Given the description of an element on the screen output the (x, y) to click on. 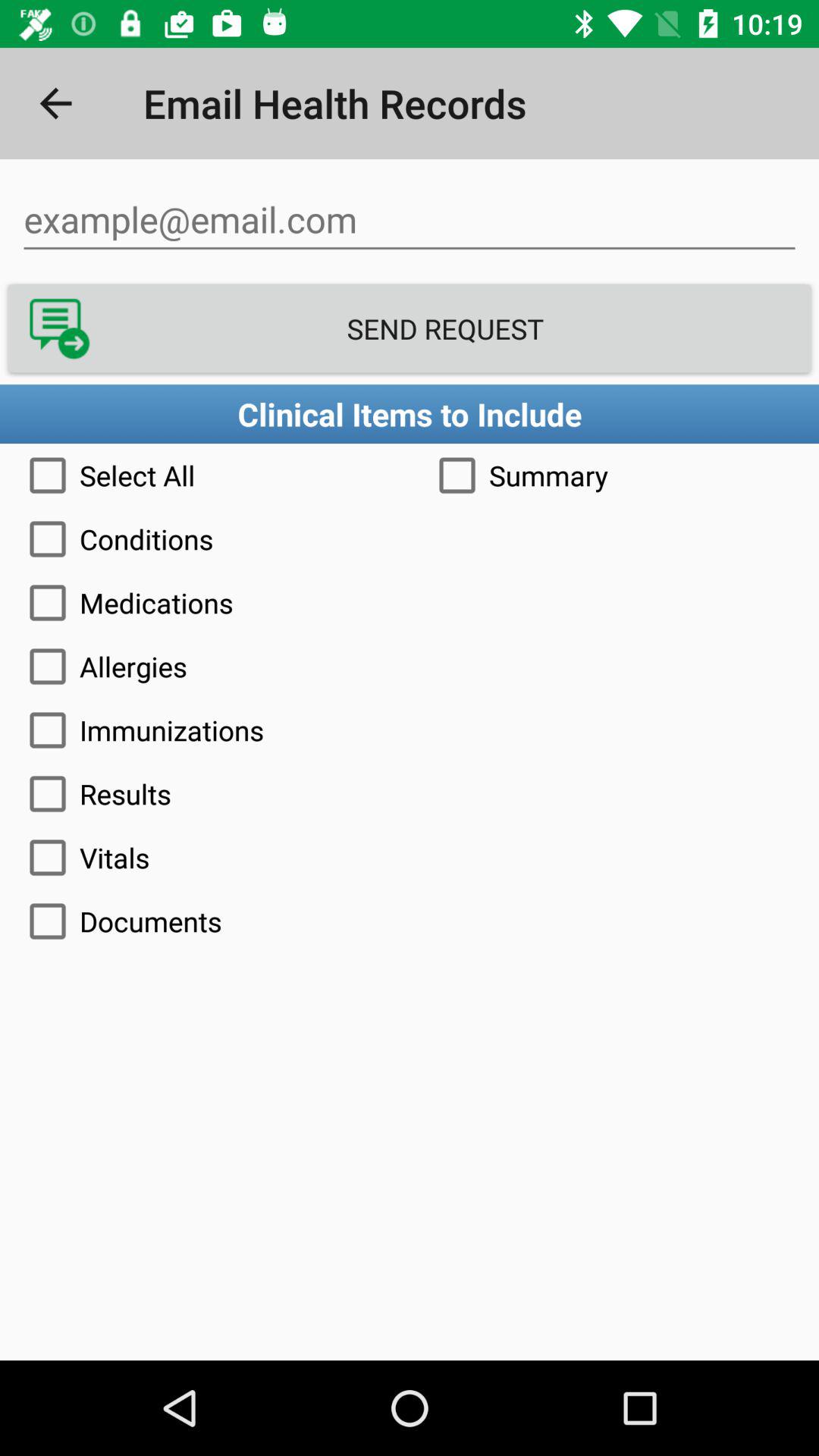
swipe to vitals icon (409, 857)
